Given the description of an element on the screen output the (x, y) to click on. 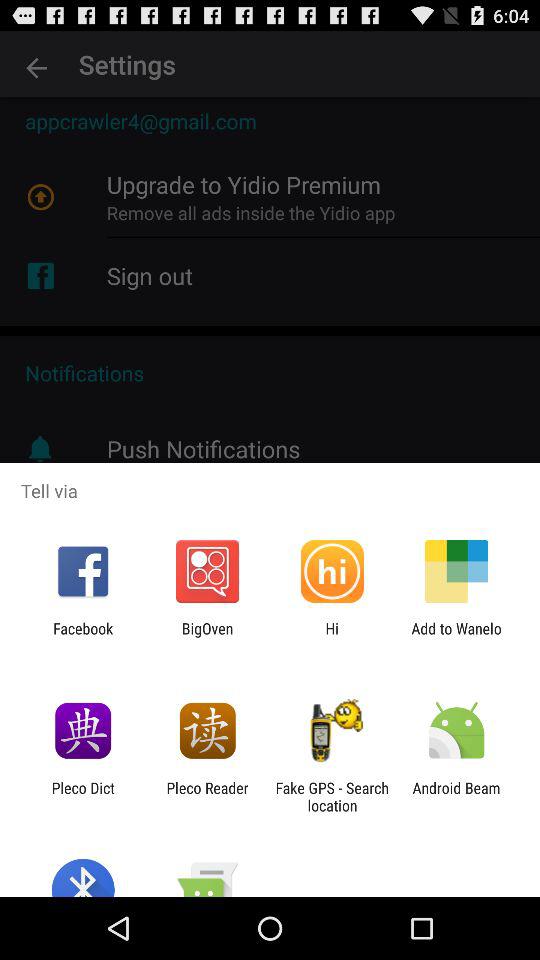
open add to wanelo item (456, 637)
